Given the description of an element on the screen output the (x, y) to click on. 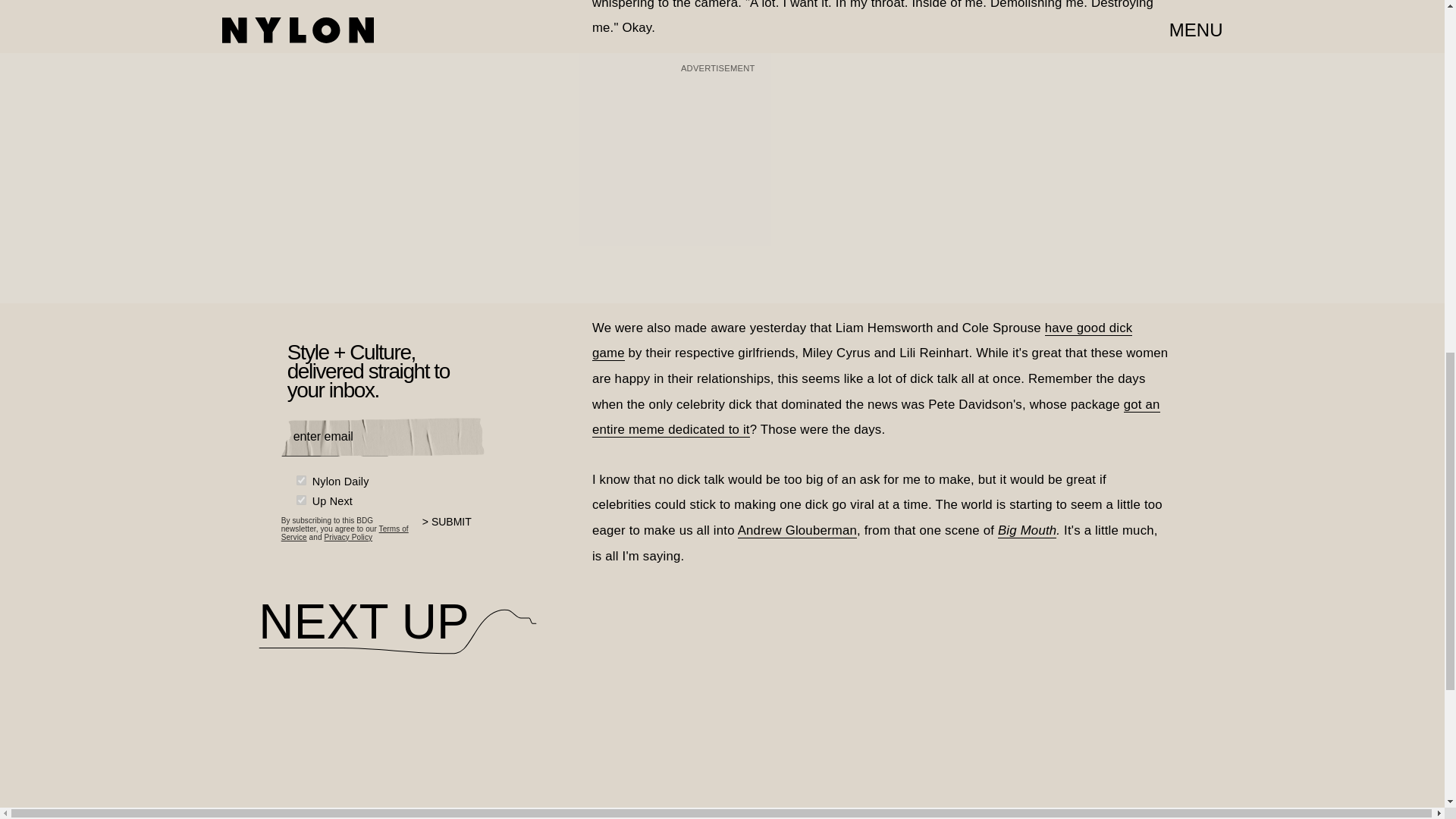
Privacy Policy (347, 537)
Terms of Service (345, 532)
Big Mouth (1027, 530)
got an entire meme dedicated to it (876, 417)
SUBMIT (453, 531)
Andrew Glouberman (797, 530)
have good dick game (862, 341)
